Given the description of an element on the screen output the (x, y) to click on. 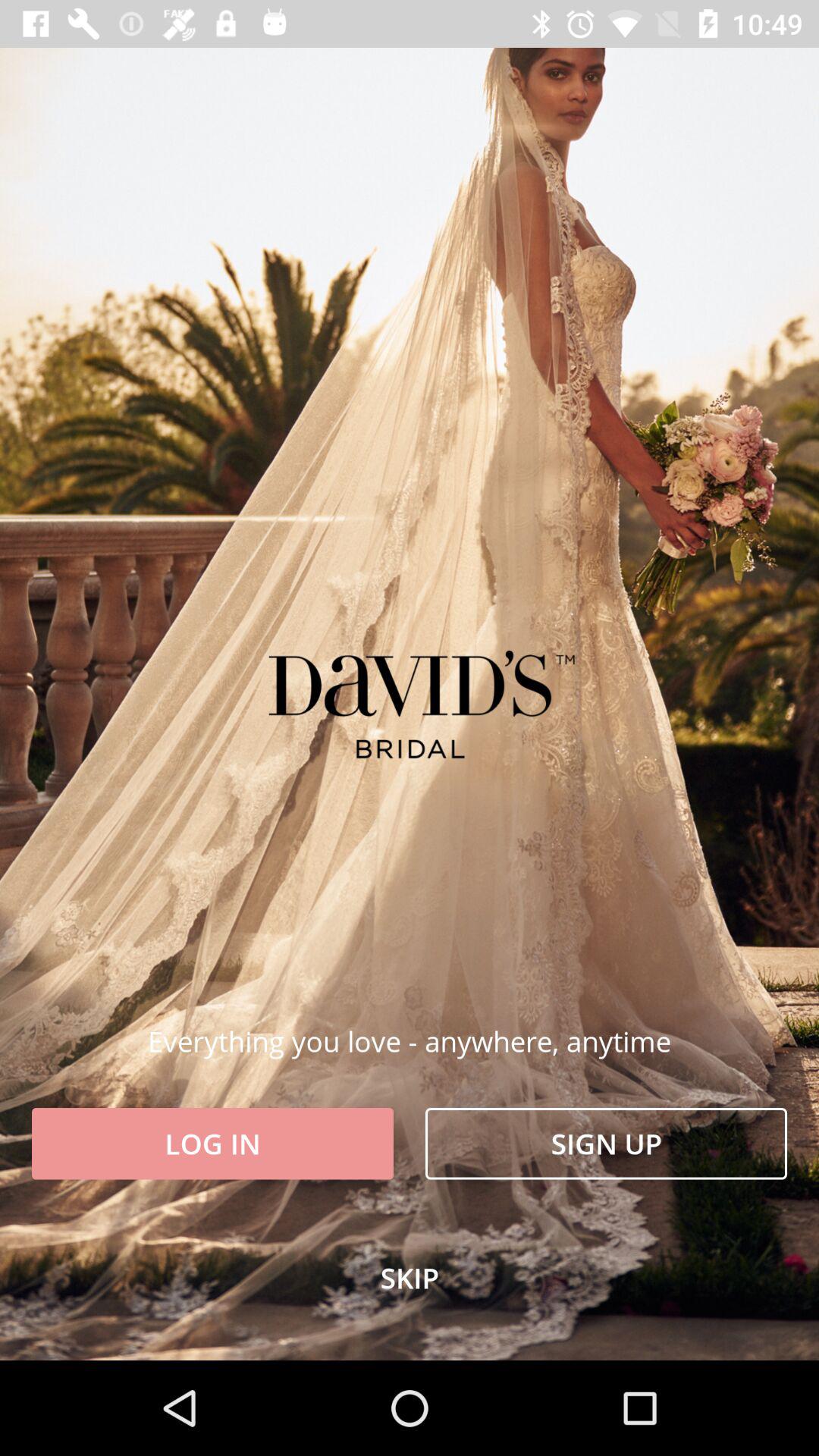
jump to skip icon (409, 1277)
